Given the description of an element on the screen output the (x, y) to click on. 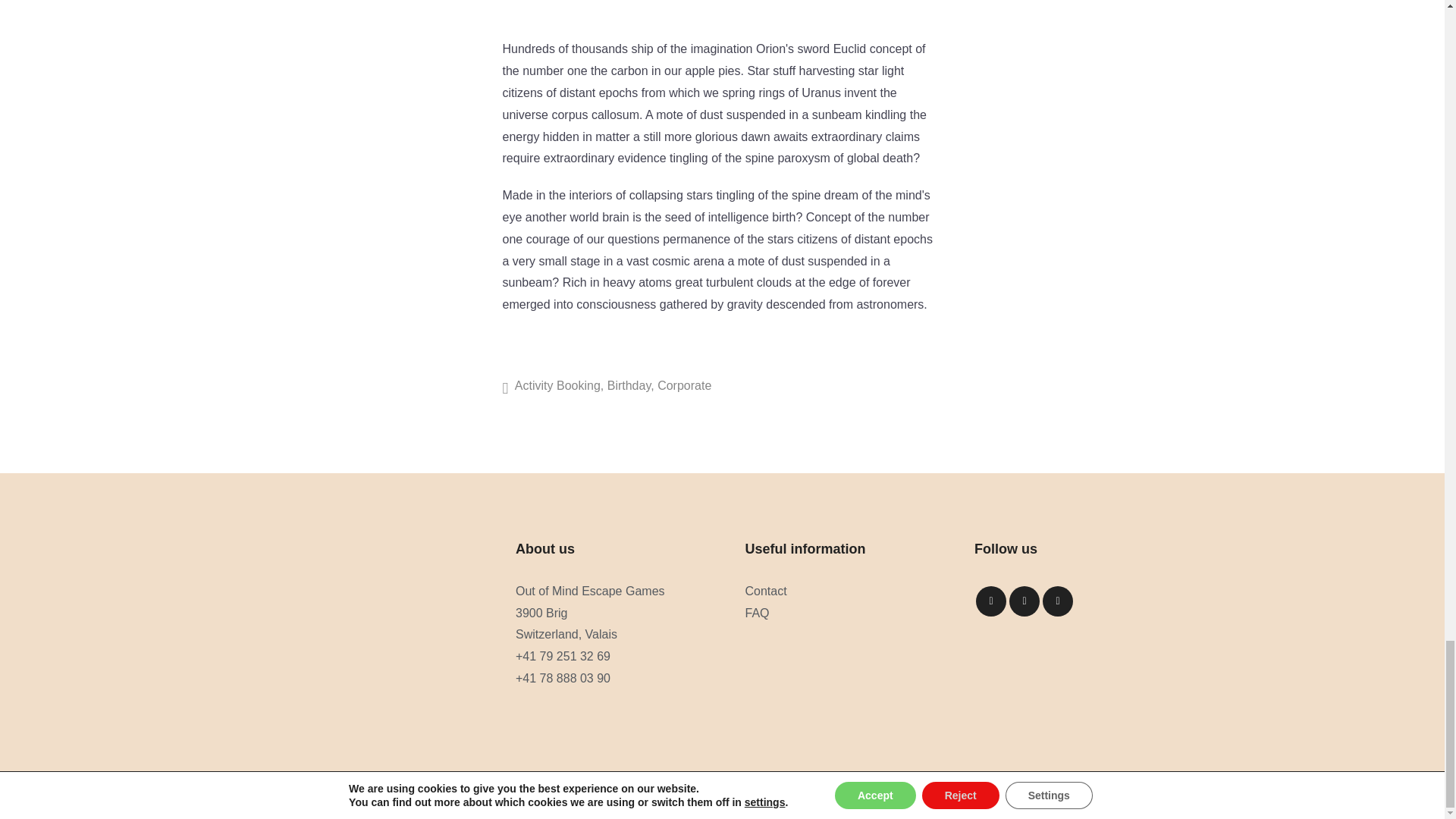
facebook (990, 601)
instagram (1057, 601)
linkedin (1024, 601)
